Given the description of an element on the screen output the (x, y) to click on. 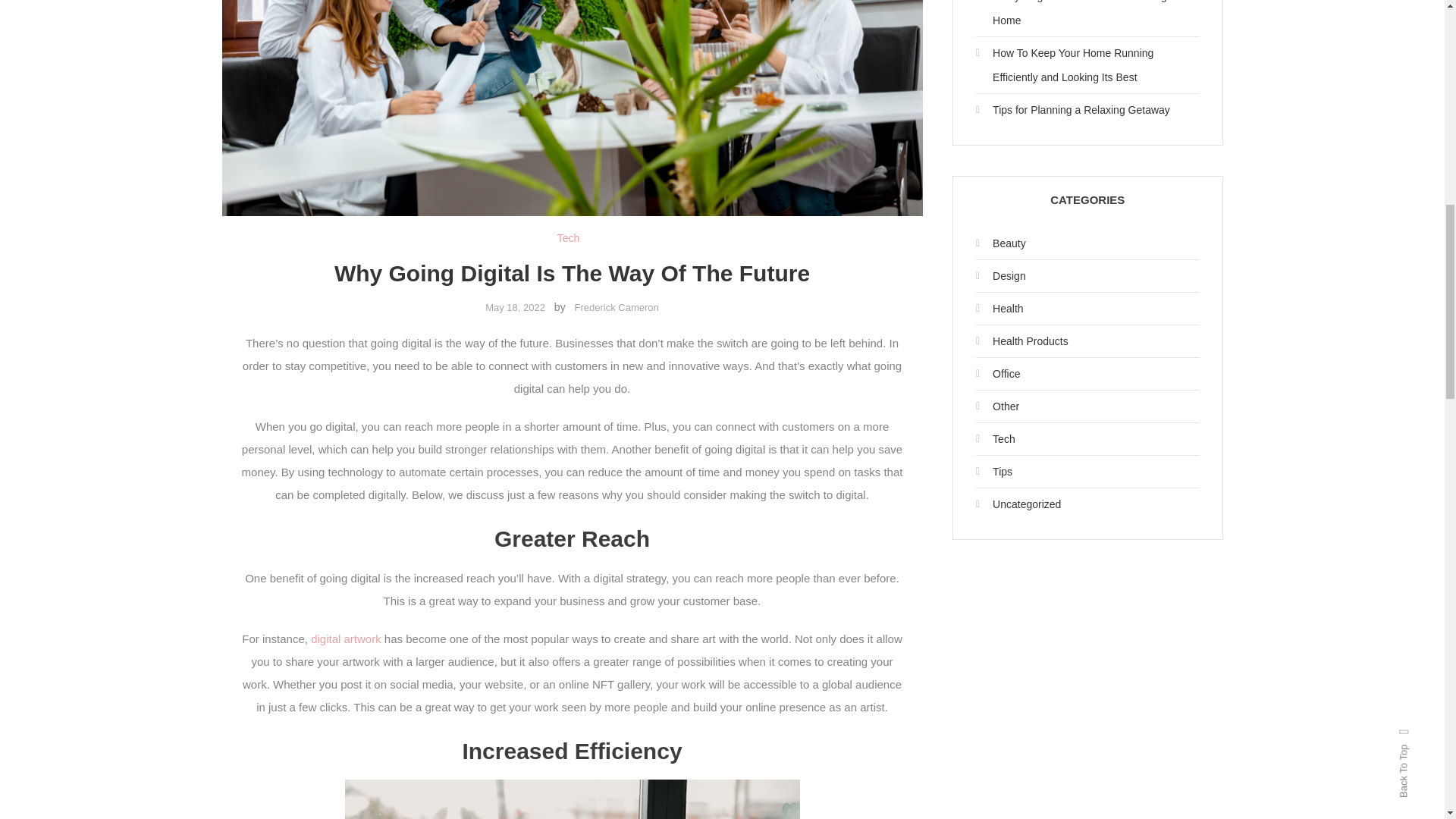
Tech (568, 238)
digital artwork (346, 638)
Frederick Cameron (617, 307)
May 18, 2022 (514, 307)
